Given the description of an element on the screen output the (x, y) to click on. 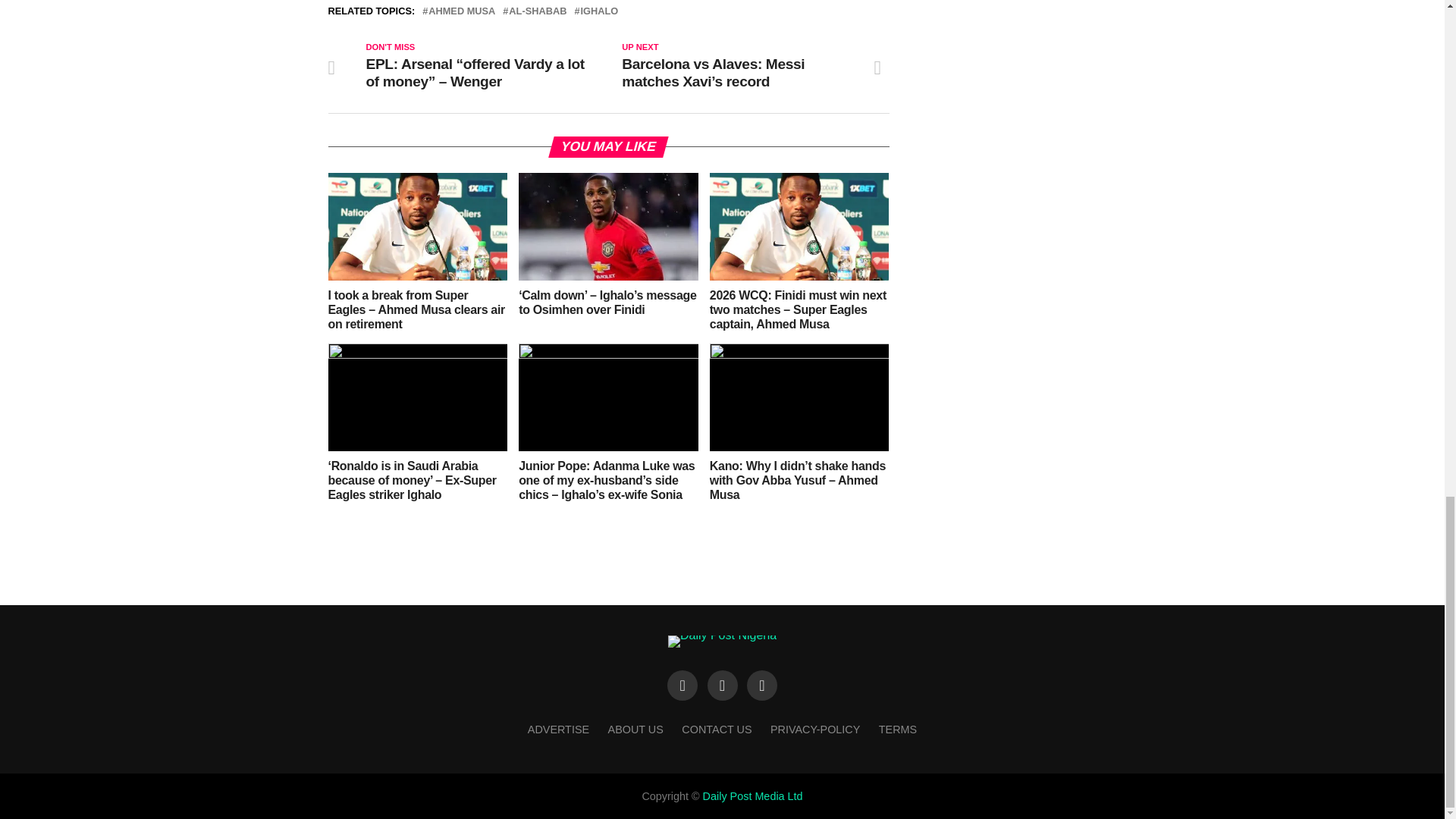
AHMED MUSA (461, 11)
AL-SHABAB (537, 11)
IGHALO (598, 11)
